Given the description of an element on the screen output the (x, y) to click on. 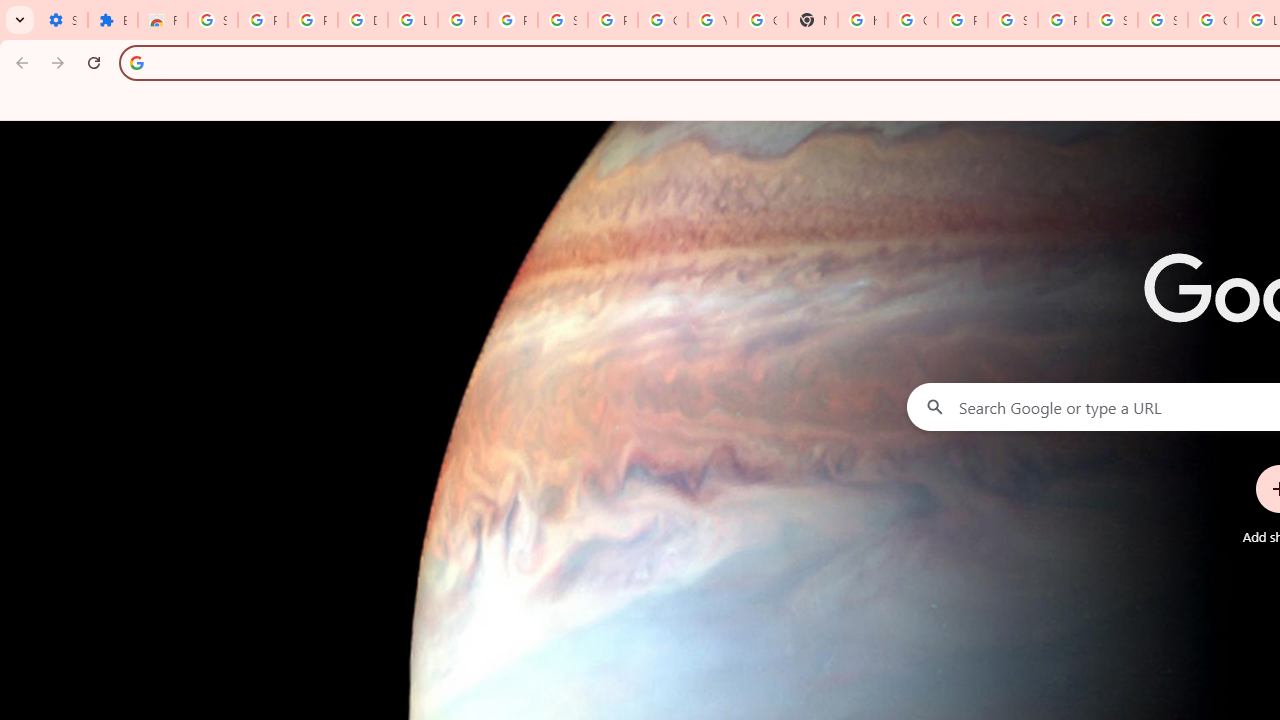
Settings - On startup (62, 20)
Sign in - Google Accounts (1162, 20)
YouTube (712, 20)
Google Account (662, 20)
https://scholar.google.com/ (863, 20)
Search tabs (20, 20)
Reviews: Helix Fruit Jump Arcade Game (163, 20)
Delete photos & videos - Computer - Google Photos Help (362, 20)
Sign in - Google Accounts (213, 20)
System (10, 11)
